Given the description of an element on the screen output the (x, y) to click on. 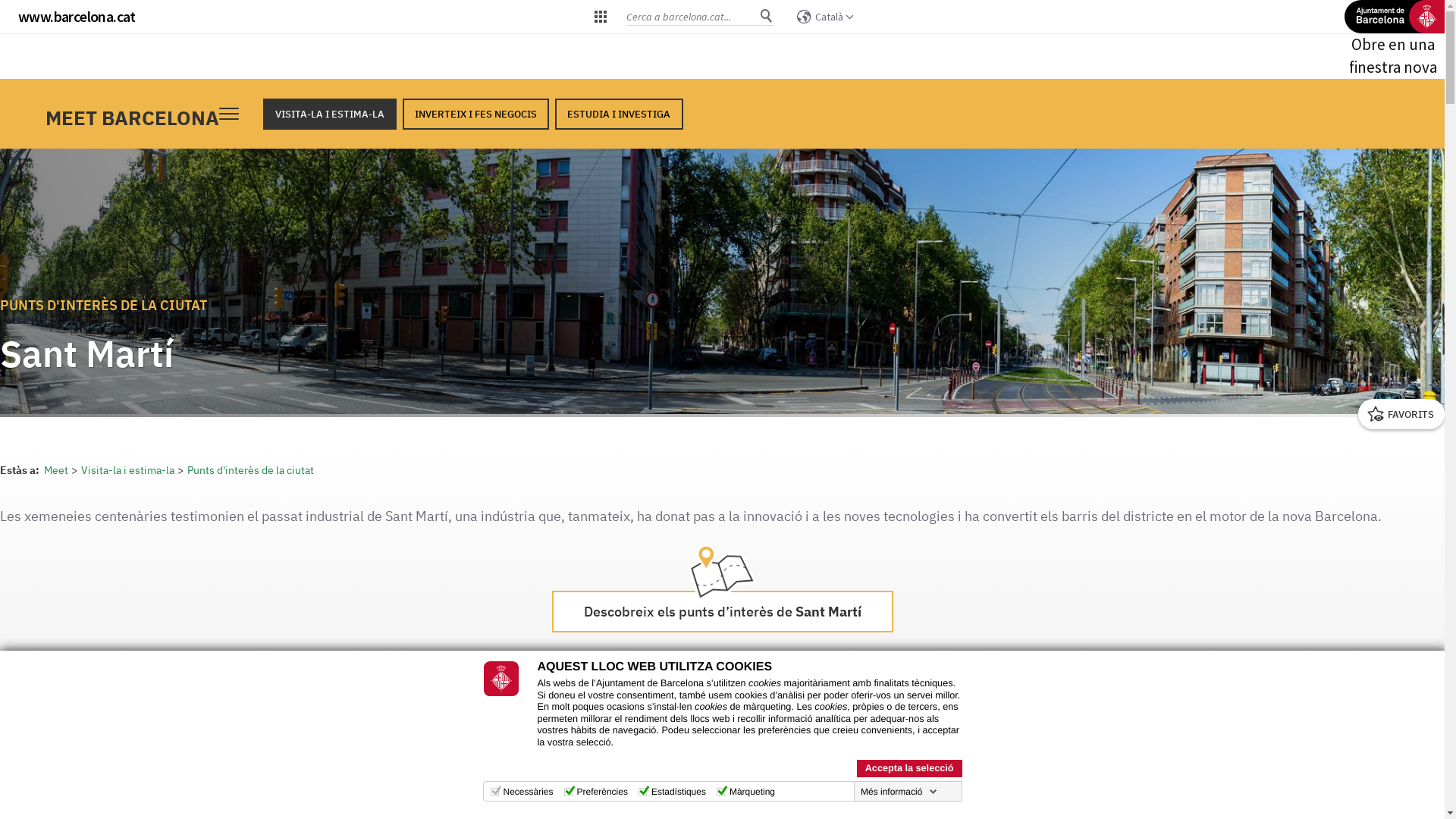
www.barcelona.cat Element type: text (76, 15)
VISITA-LA I ESTIMA-LA Element type: text (329, 113)
FAVORITS Element type: text (1401, 413)
INVERTEIX I FES NEGOCIS Element type: text (475, 113)
Obre en una finestra nova Element type: text (1392, 39)
ESTUDIA I INVESTIGA Element type: text (619, 113)
MEET BARCELONA Element type: text (132, 117)
Meet Element type: text (60, 469)
Visita-la i estima-la Element type: text (133, 469)
